Given the description of an element on the screen output the (x, y) to click on. 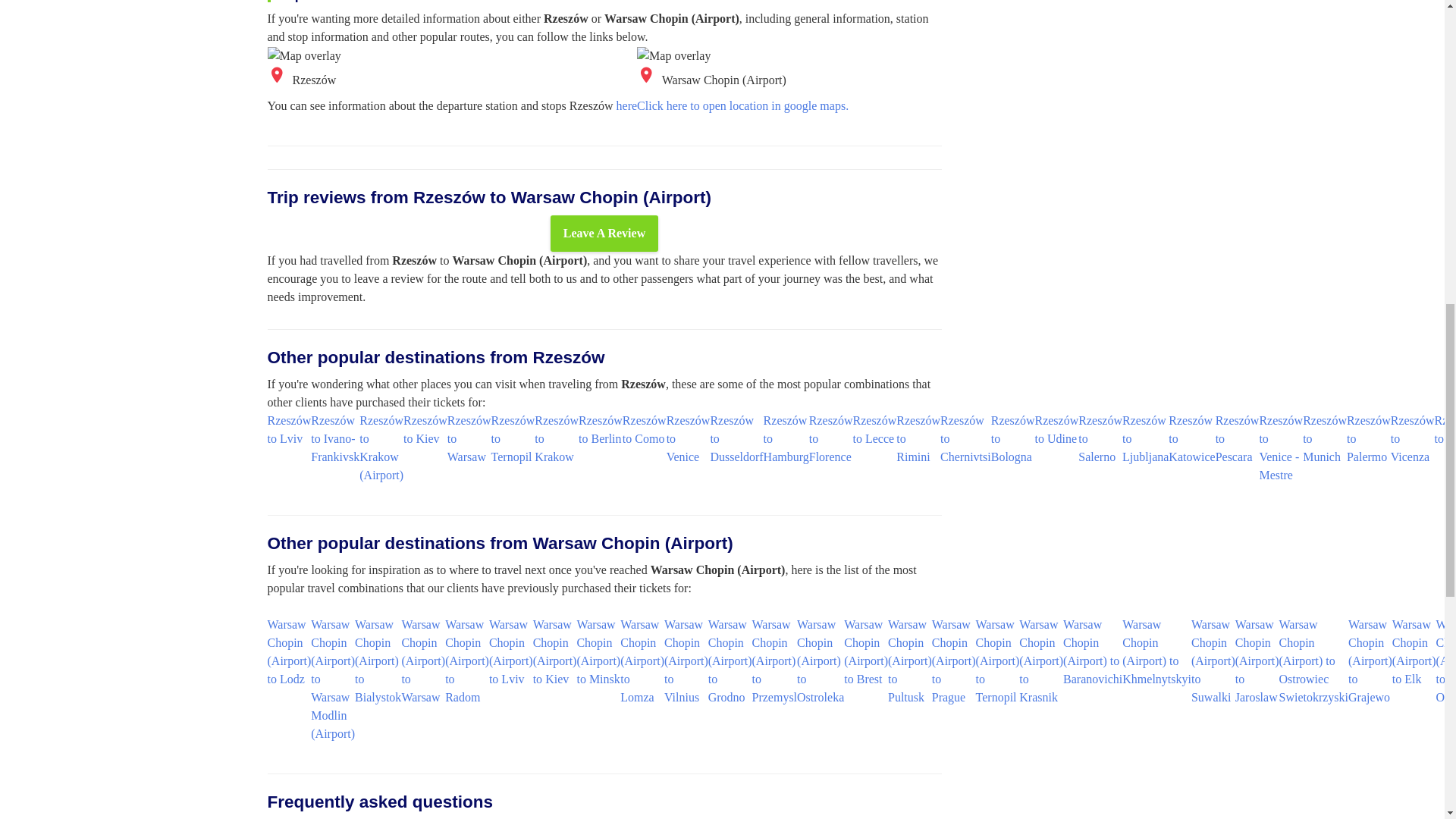
Leave A Review (604, 233)
Click here to open location in google maps. (742, 105)
here (626, 105)
